Given the description of an element on the screen output the (x, y) to click on. 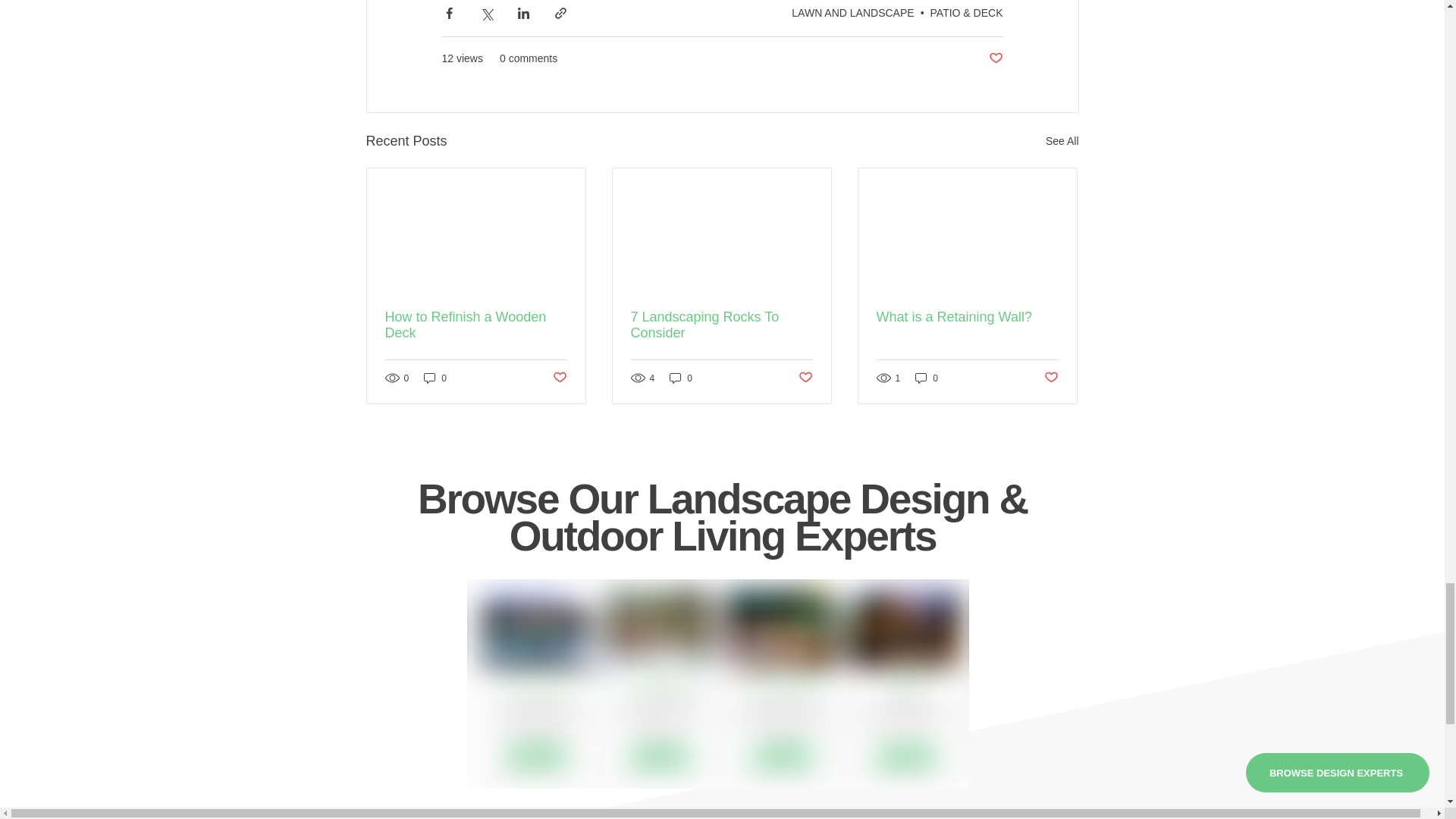
0 (681, 377)
See All (1061, 141)
7 Landscaping Rocks To Consider (721, 325)
0 (435, 377)
Post not marked as liked (995, 58)
LAWN AND LANDSCAPE (853, 12)
Post not marked as liked (558, 377)
How to Refinish a Wooden Deck (476, 325)
